Given the description of an element on the screen output the (x, y) to click on. 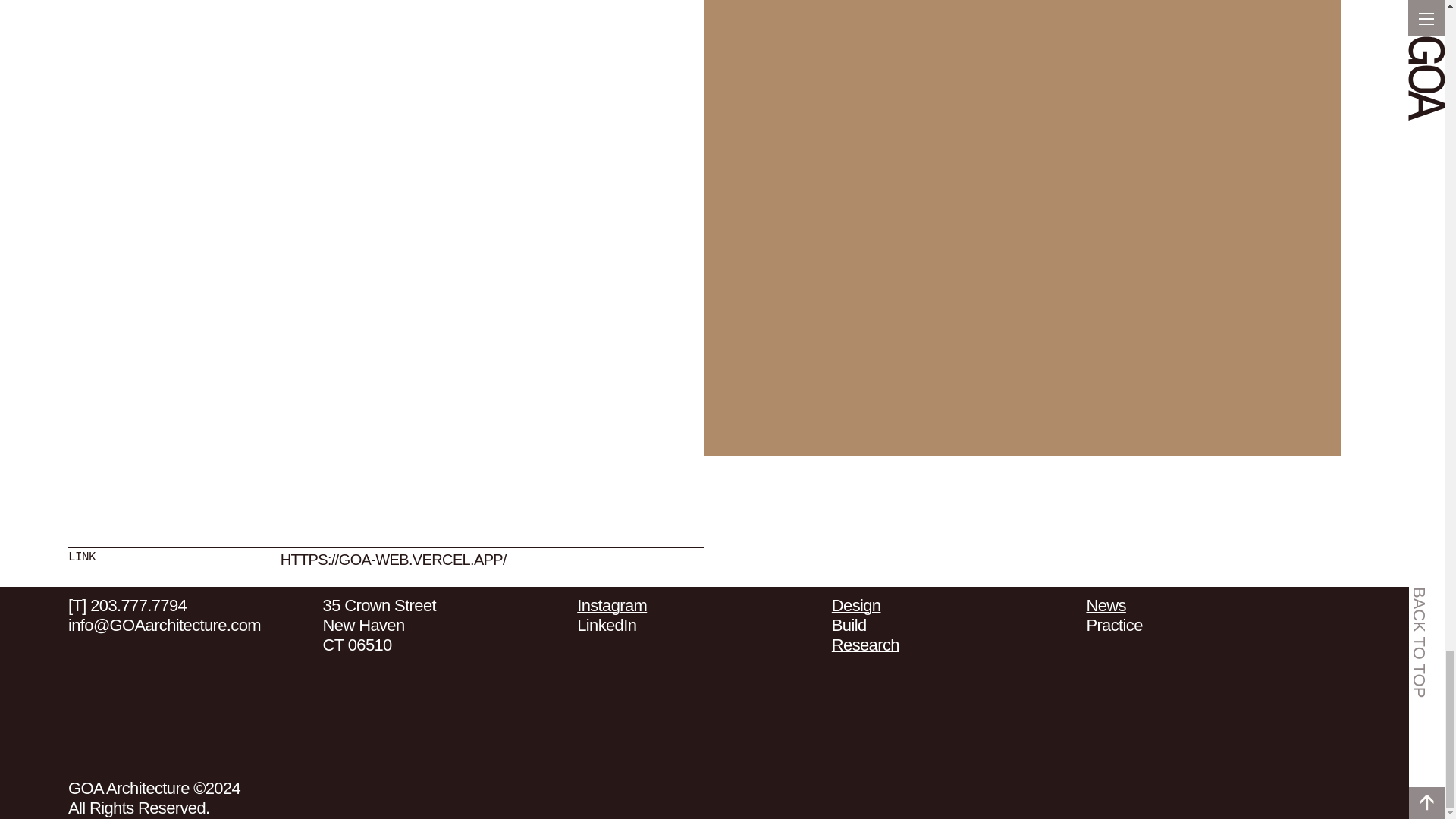
News (1105, 605)
LinkedIn (606, 624)
Build (848, 624)
Instagram (611, 605)
Design (855, 605)
Practice (1113, 624)
News (1105, 605)
Practice (1113, 624)
Design (855, 605)
Instagram (611, 605)
Build (848, 624)
LinkedIn (606, 624)
Research (865, 644)
203.777.7794 (138, 605)
Research (865, 644)
